Given the description of an element on the screen output the (x, y) to click on. 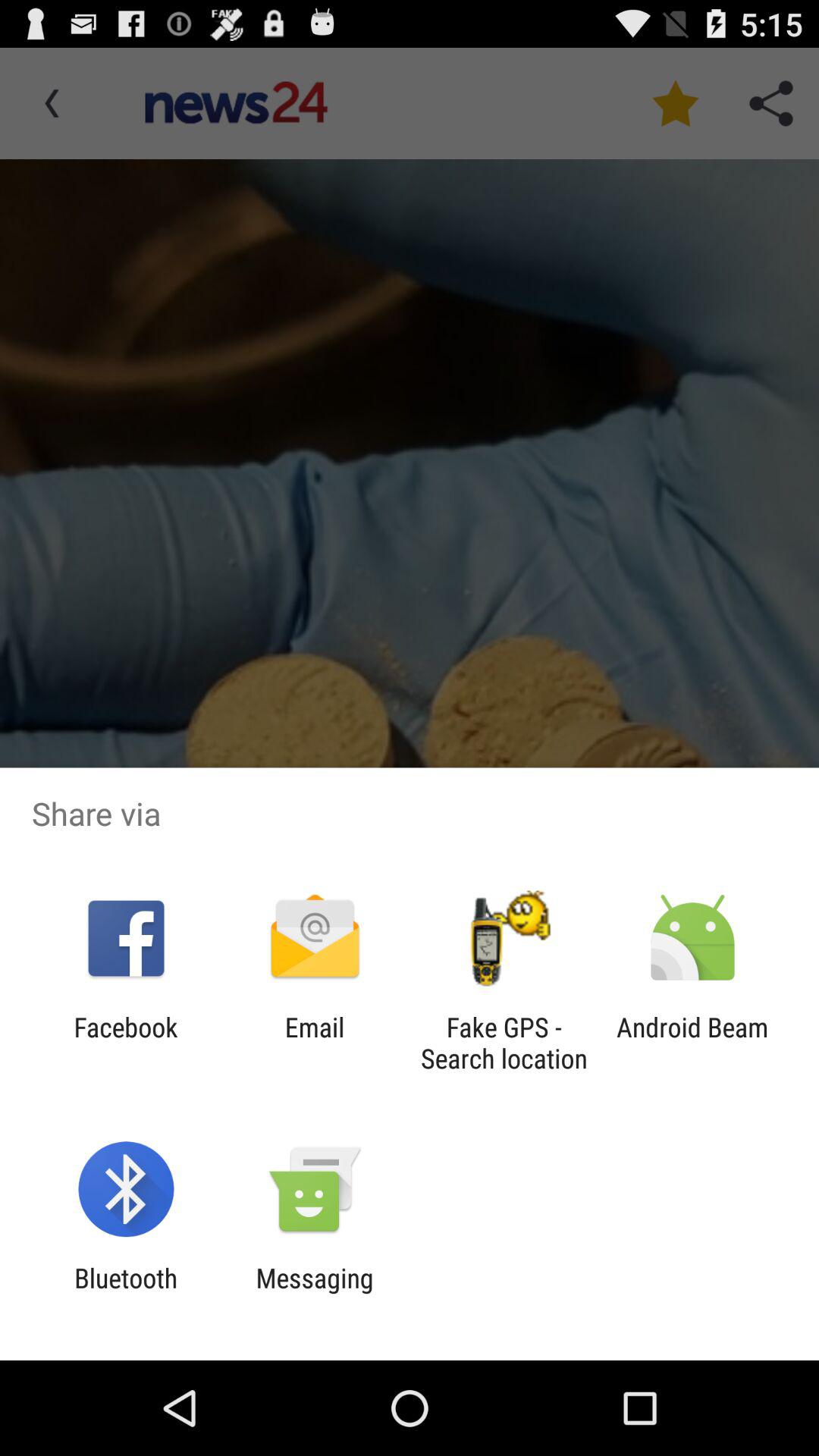
tap icon next to the email (503, 1042)
